Given the description of an element on the screen output the (x, y) to click on. 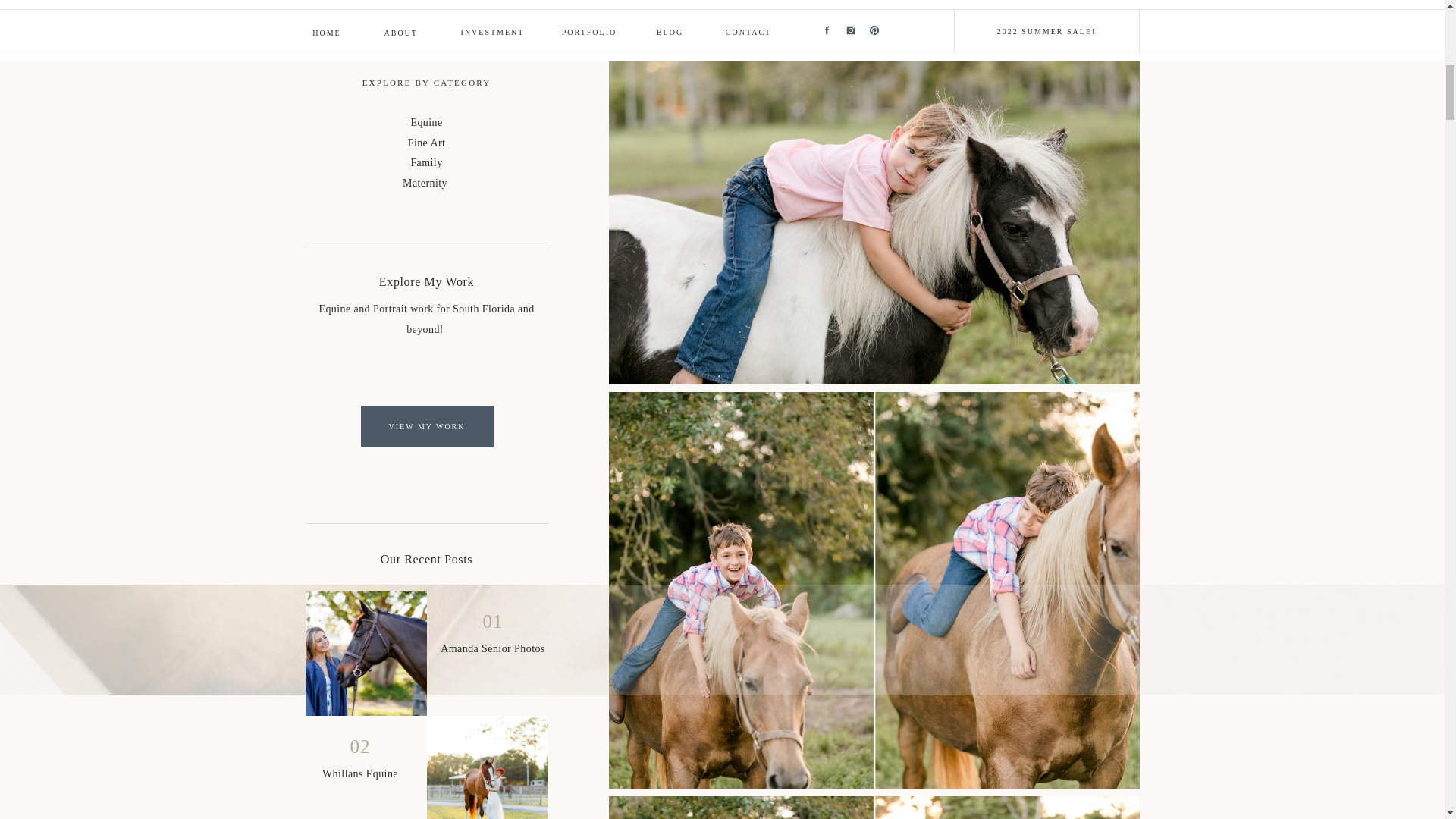
Equine (426, 122)
Whillans Equine (486, 767)
VIEW MY WORK (427, 426)
Amanda Senior Photos (492, 648)
Family (426, 162)
Maternity (424, 183)
Fine Art (426, 142)
Amanda Senior Photos (365, 652)
Whillans Equine (359, 773)
